Given the description of an element on the screen output the (x, y) to click on. 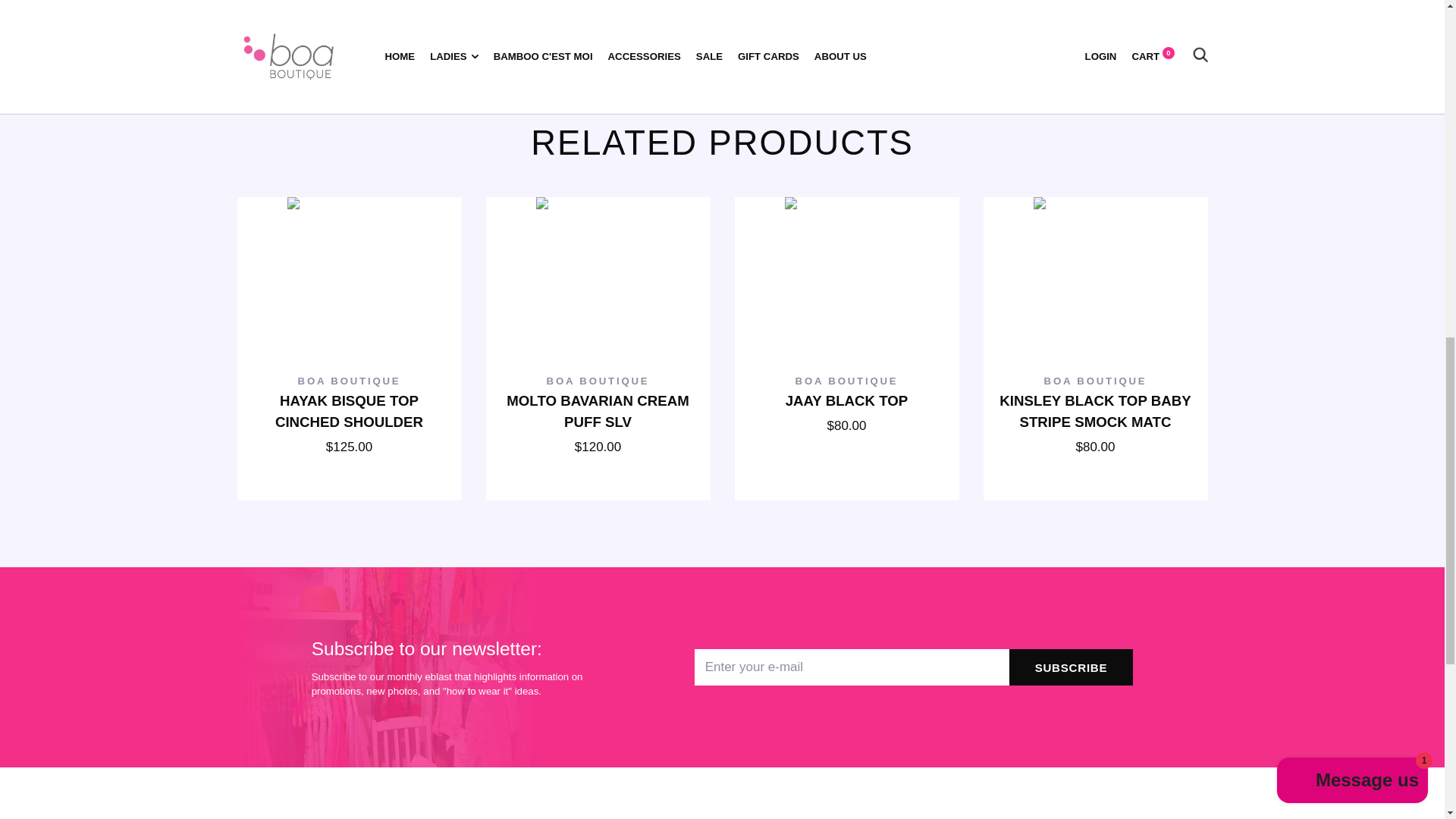
Subscribe (1071, 667)
